Given the description of an element on the screen output the (x, y) to click on. 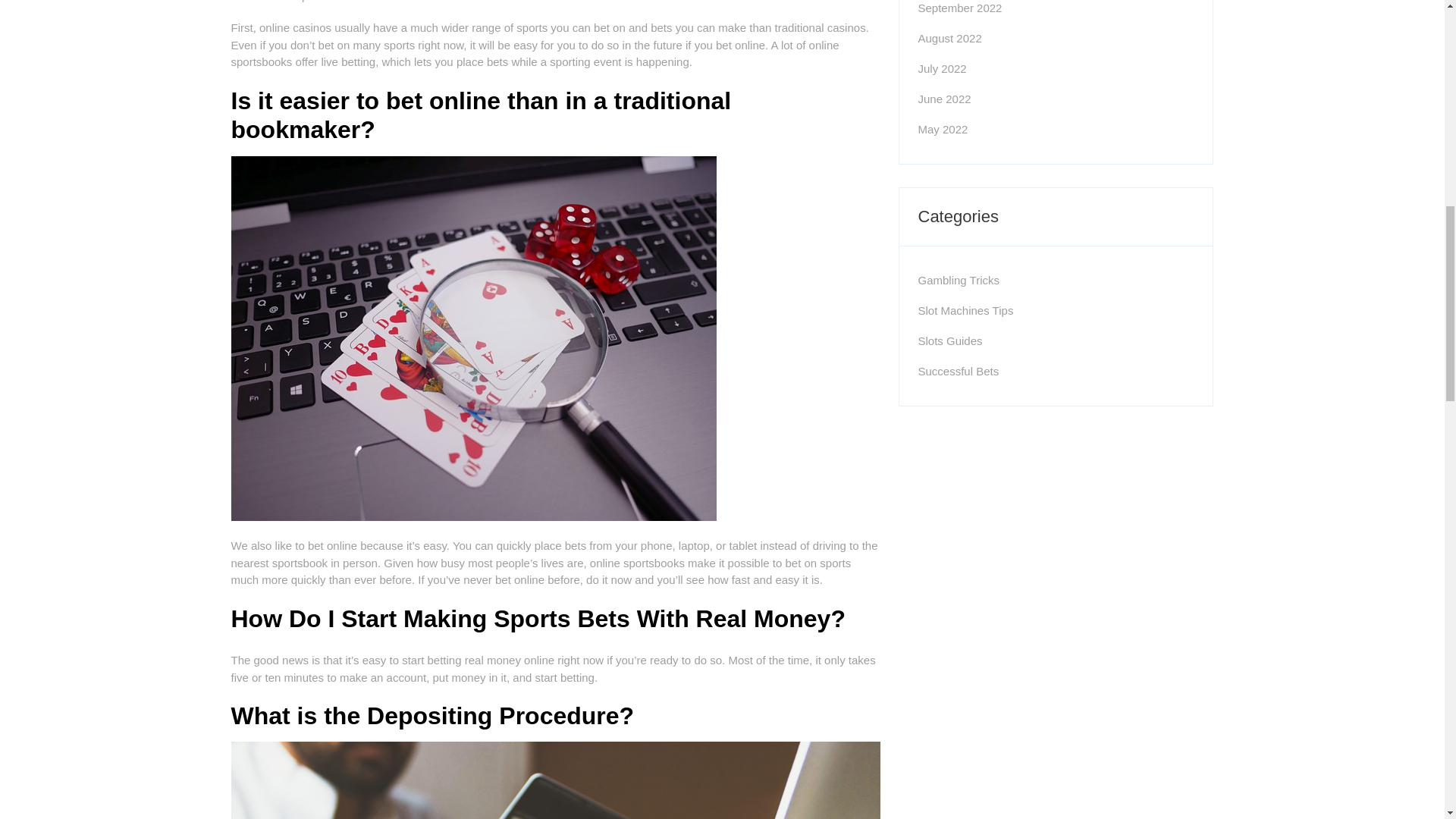
Successful Bets (957, 370)
June 2022 (944, 98)
September 2022 (959, 7)
Slots Guides (949, 340)
July 2022 (941, 68)
Slot Machines Tips (965, 309)
May 2022 (942, 128)
Gambling Tricks (957, 279)
August 2022 (949, 38)
